Given the description of an element on the screen output the (x, y) to click on. 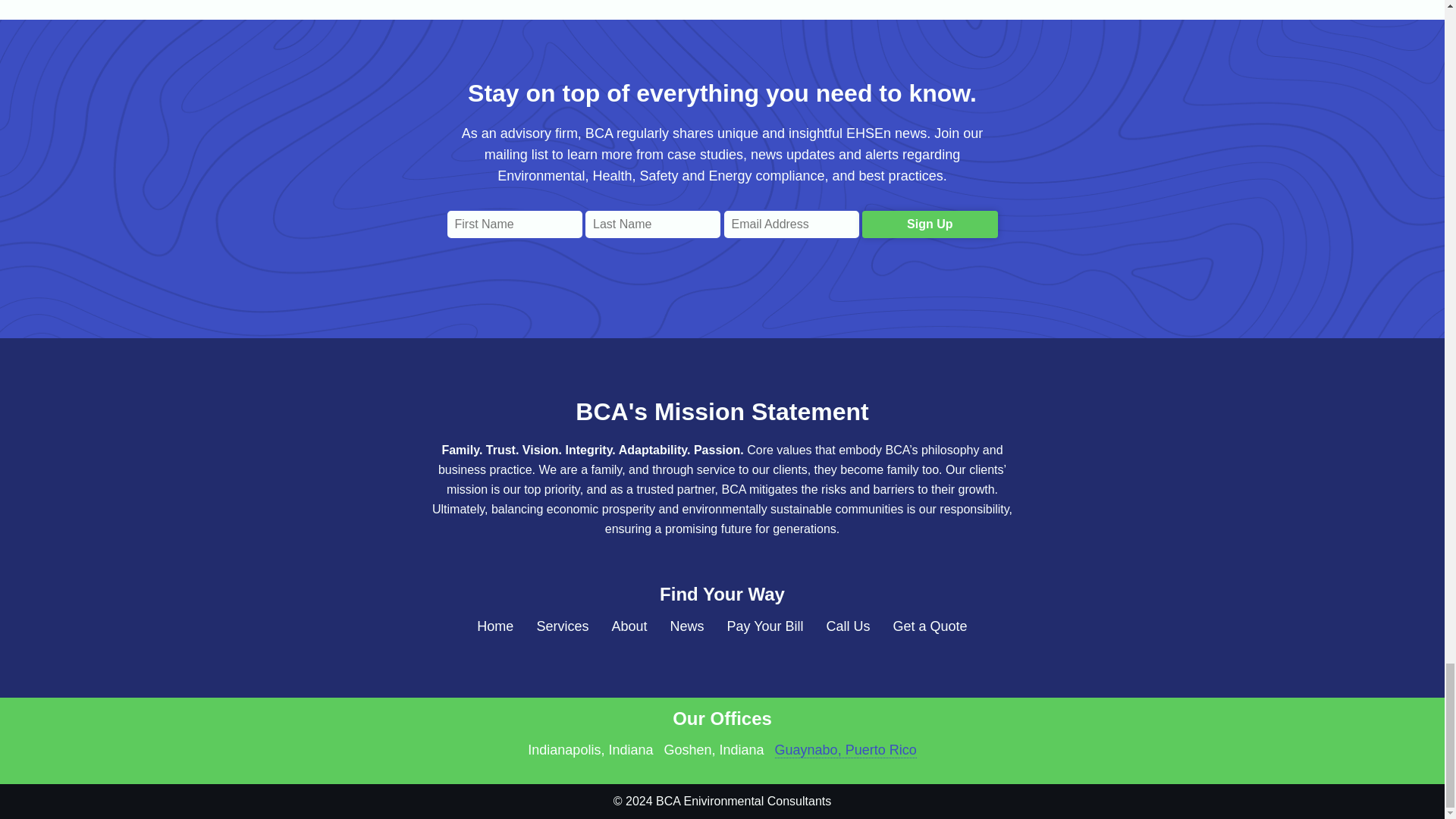
Sign Up (929, 224)
